Given the description of an element on the screen output the (x, y) to click on. 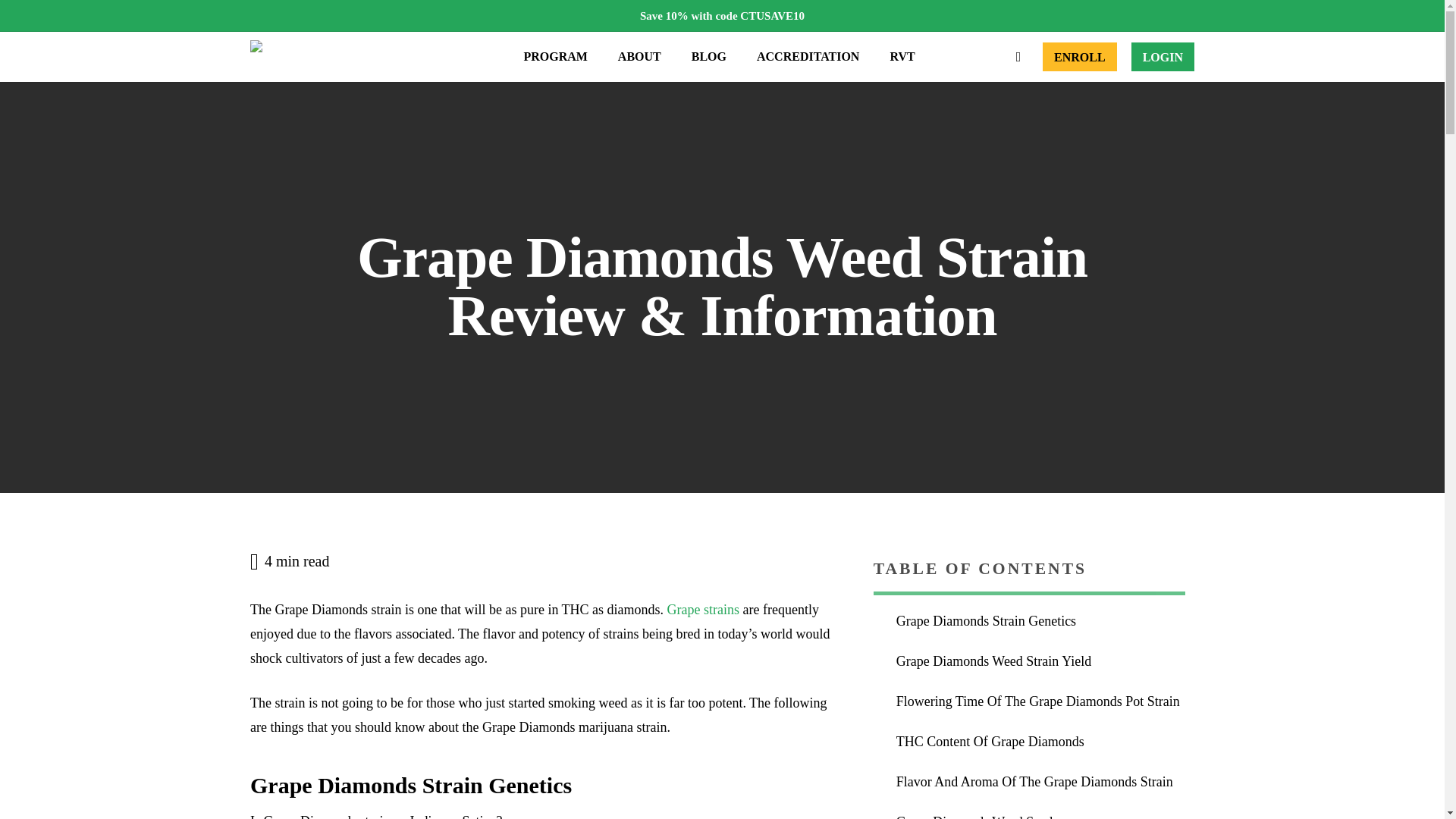
Grape Diamonds Strain Genetics (1040, 621)
ABOUT (639, 56)
PROGRAM (555, 56)
Log In (1162, 56)
